Given the description of an element on the screen output the (x, y) to click on. 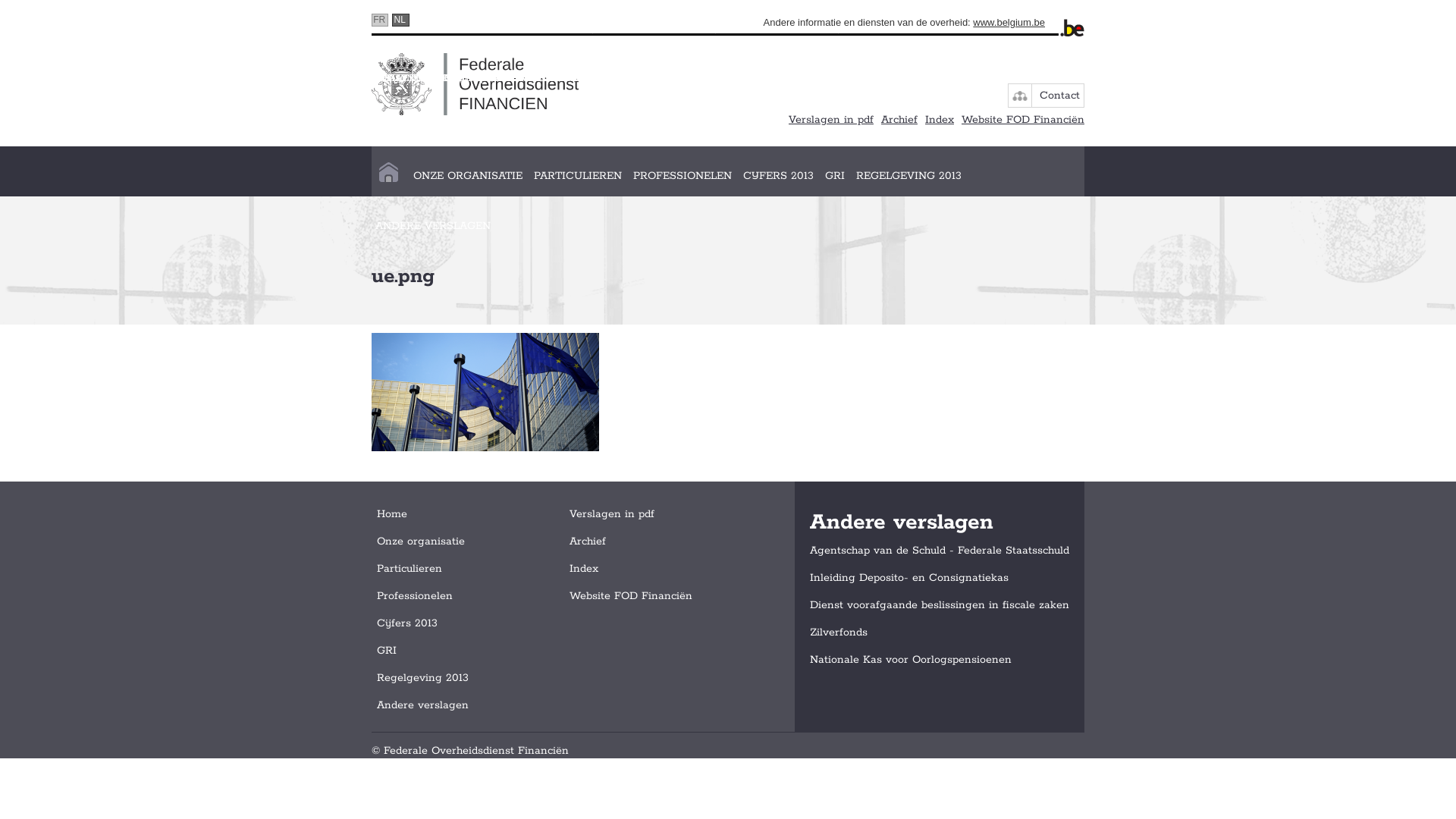
www.belgium.be Element type: text (1008, 22)
Home Element type: text (391, 513)
Regelgeving 2013 Element type: text (422, 677)
DIENSTVERLENING Element type: text (60, 128)
Inleiding Deposito- en Consignatiekas Element type: text (908, 577)
Onze organisatie Element type: text (420, 541)
PROFESSIONELEN Element type: text (682, 176)
Dienst voorafgaande beslissingen in fiscale zaken Element type: text (939, 604)
NL Element type: text (400, 19)
Index Element type: text (939, 119)
ICT Element type: text (132, 78)
DIRECTE BELASTINGEN Element type: text (302, 78)
Agentschap van de Schuld - Federale Staatsschuld Element type: text (939, 550)
BUDGET Element type: text (138, 128)
SAMENWERKING Element type: text (533, 78)
Particulieren Element type: text (409, 568)
BTW Element type: text (394, 78)
INTERNATIONAAL/ECONOMIE Element type: text (392, 78)
DIVERSE BELASTINGEN EN TAKSEN Element type: text (519, 78)
INKOMSTENBELASTINGEN - NATIONAAL Element type: text (114, 78)
PARTICULIEREN Element type: text (577, 176)
BUDGET Element type: text (296, 78)
ONTVANGSTEN Element type: text (409, 78)
sitemap Element type: text (1019, 95)
FISCALE BEMIDDELING Element type: text (528, 128)
HOME Element type: text (388, 176)
Archief Element type: text (587, 541)
ANDERE VERSLAGEN Element type: text (432, 226)
FR Element type: text (379, 19)
Cijfers 2013 Element type: text (406, 623)
NATIONALE KAS VOOR OORLOGSPENSIOENEN Element type: text (132, 128)
CIJFERS 2013 Element type: text (778, 176)
DVB Element type: text (357, 78)
Andere verslagen Element type: text (422, 705)
Nationale Kas voor Oorlogspensioenen Element type: text (910, 659)
CONTROLE EN INVORDERING Element type: text (85, 78)
ZILVERFONDS Element type: text (422, 78)
Contact Element type: text (1059, 95)
Archief Element type: text (899, 119)
FRAUDEBESTRIJDING Element type: text (238, 78)
AGENTSCHAP VAN DE SCHULD - FEDERALE STAATSSCHULD Element type: text (168, 78)
GRI Element type: text (834, 176)
Zilverfonds Element type: text (838, 632)
ONZE ORGANISATIE Element type: text (467, 176)
Verslagen in pdf Element type: text (830, 119)
Verslagen in pdf Element type: text (611, 513)
PEOPLE Element type: text (27, 78)
REGELGEVING 2013 Element type: text (908, 176)
CONTROLE EN INVORDERING Element type: text (273, 78)
FISCALE GESCHILLEN Element type: text (526, 78)
INFRASTRUCTUUR Element type: text (207, 78)
BEHEER Element type: text (85, 78)
Index Element type: text (583, 568)
Professionelen Element type: text (414, 595)
BEHEER- EN DIENSTVERLENING Element type: text (92, 78)
SAMENWERKING Element type: text (53, 128)
DEPOSITO- EN CONSIGNATIEKAS Element type: text (360, 128)
GRI Element type: text (386, 650)
